Given the description of an element on the screen output the (x, y) to click on. 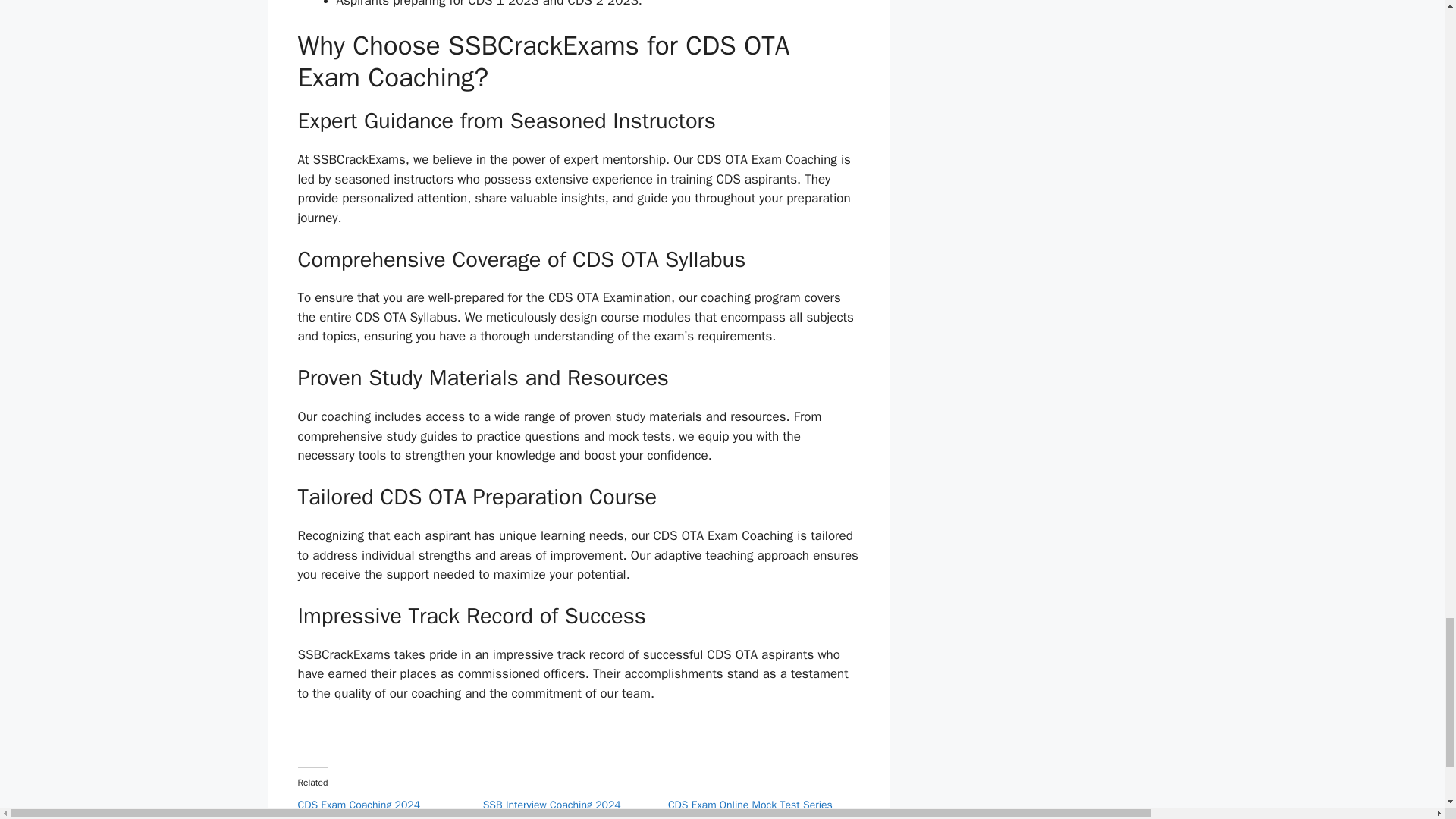
CDS Exam Online Mock Test Series (750, 804)
CDS Exam Coaching 2024 (358, 804)
SSB Interview Coaching 2024 (552, 804)
CDS Exam Online Mock Test Series (750, 804)
SSB Interview Coaching 2024 (552, 804)
CDS Exam Coaching 2024 (358, 804)
